Given the description of an element on the screen output the (x, y) to click on. 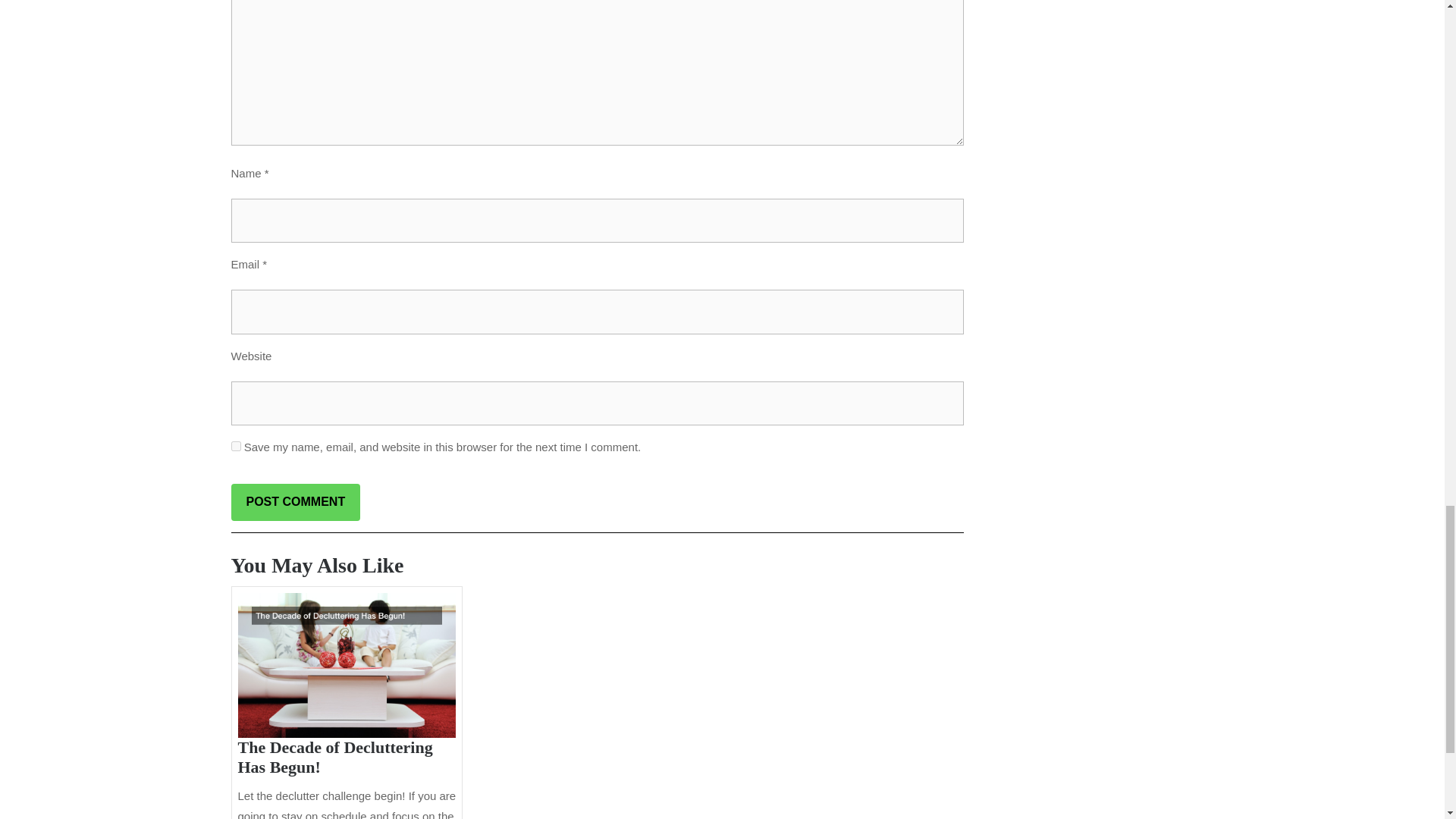
Post Comment (294, 502)
yes (235, 446)
Post Comment (294, 502)
